Given the description of an element on the screen output the (x, y) to click on. 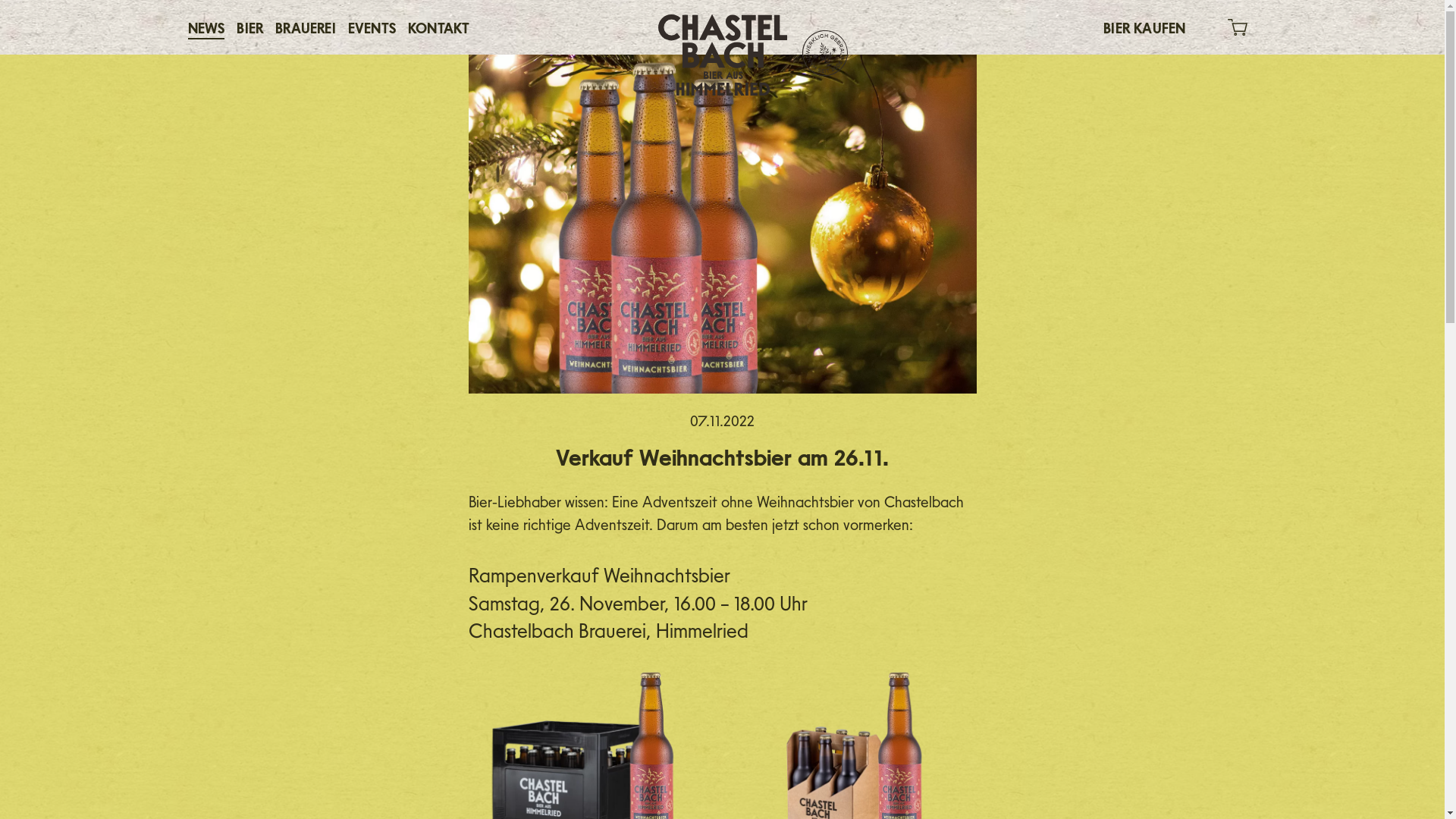
BIER KAUFEN Element type: text (1144, 26)
BRAUEREI Element type: text (305, 26)
View your shopping cart Element type: hover (1231, 27)
KONTAKT Element type: text (438, 26)
BIER Element type: text (249, 26)
NEWS Element type: text (206, 26)
EVENTS Element type: text (371, 26)
